Given the description of an element on the screen output the (x, y) to click on. 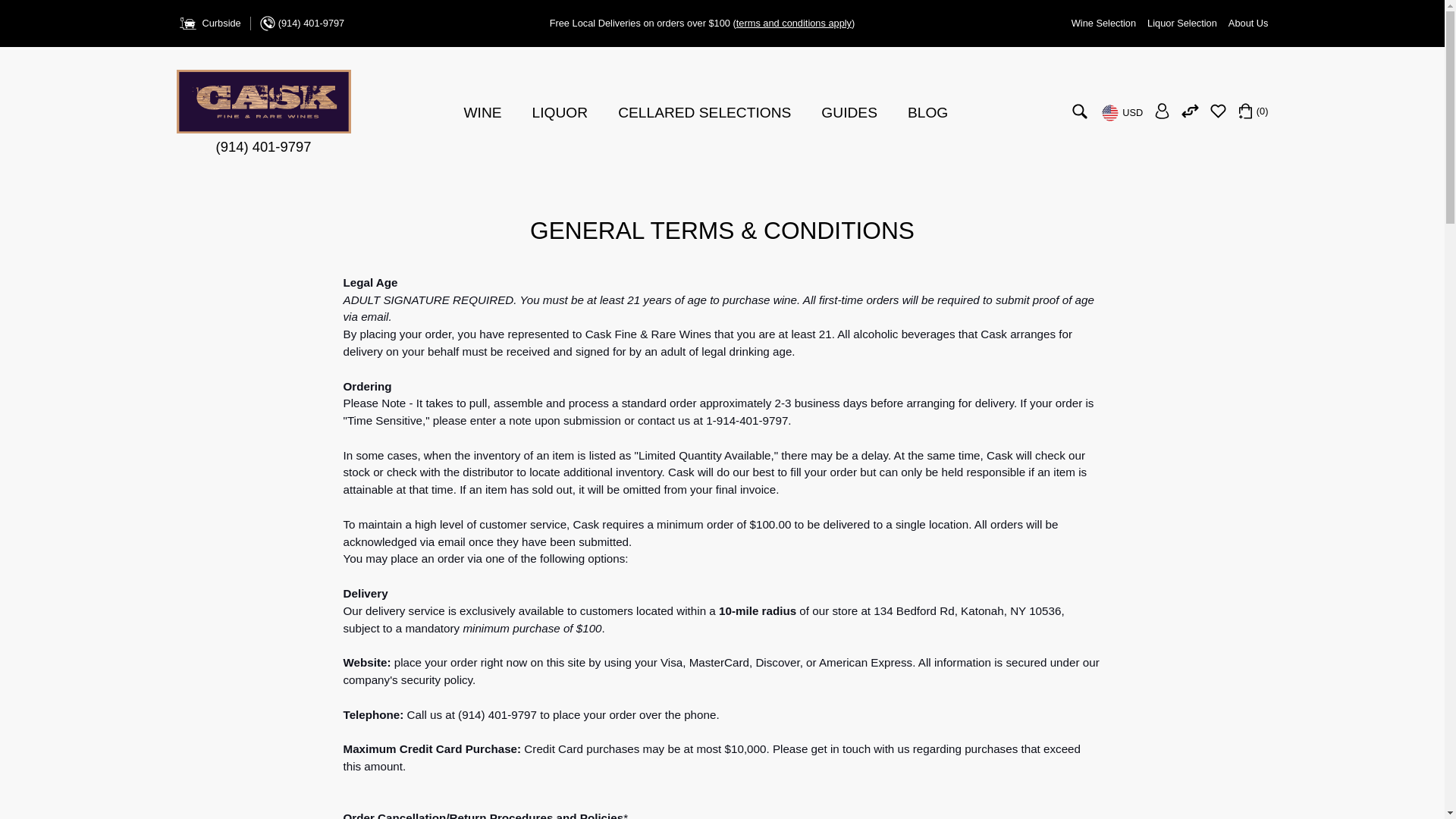
Search (1079, 115)
Wine Selection (1103, 22)
Product comparison (1189, 116)
Curbside (208, 23)
My cart (1252, 110)
Curbside pickup (208, 23)
About Us (1248, 22)
Guides (849, 112)
My wishlist (1217, 115)
Liquor Selection (1182, 22)
